Given the description of an element on the screen output the (x, y) to click on. 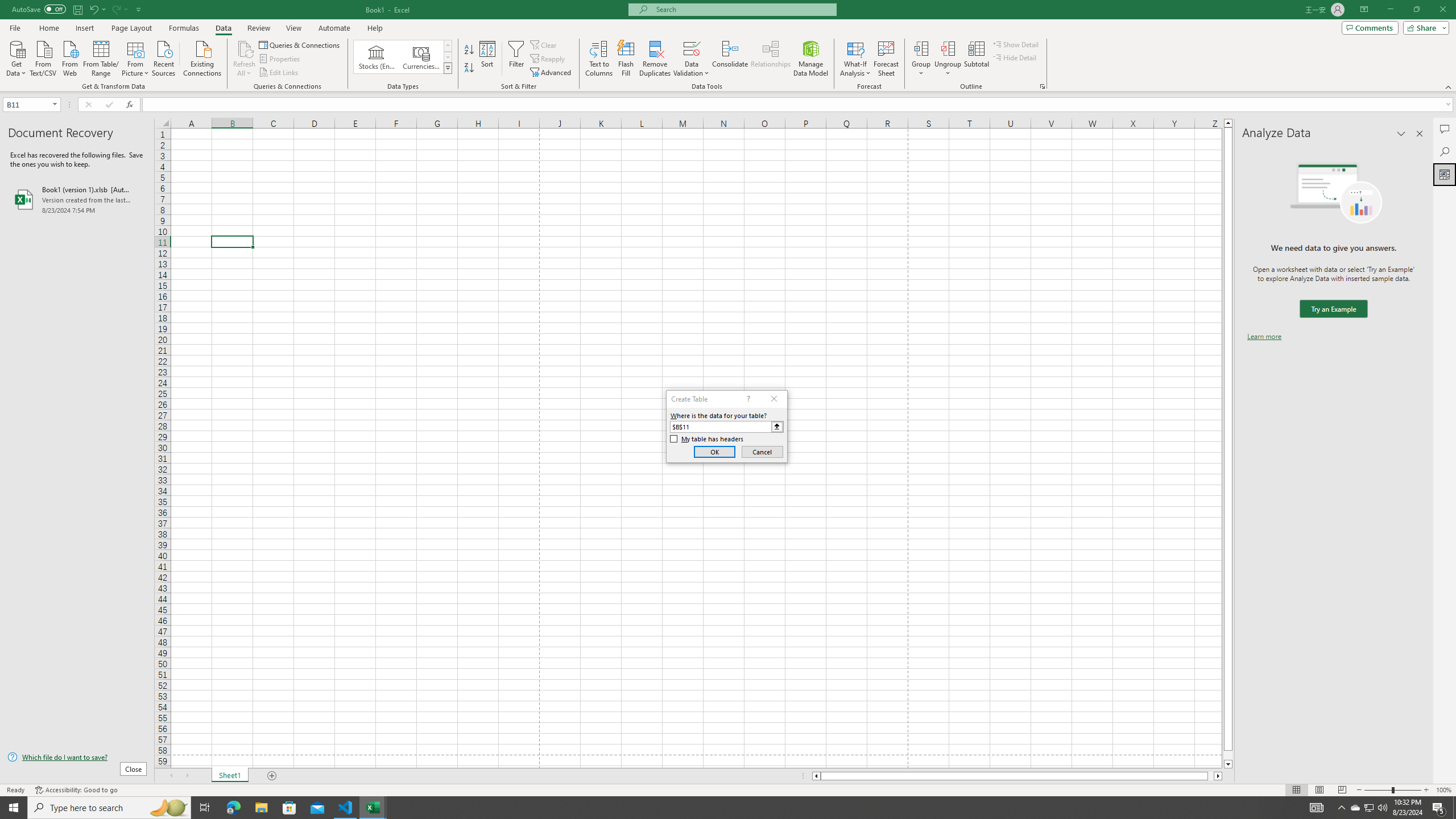
Advanced... (551, 72)
Row up (448, 45)
Class: MsoCommandBar (728, 45)
Existing Connections (202, 57)
Search (1444, 151)
Get Data (16, 57)
AutomationID: ConvertToLinkedEntity (403, 56)
Microsoft search (742, 9)
Book1 (version 1).xlsb  [AutoRecovered] (77, 199)
